Given the description of an element on the screen output the (x, y) to click on. 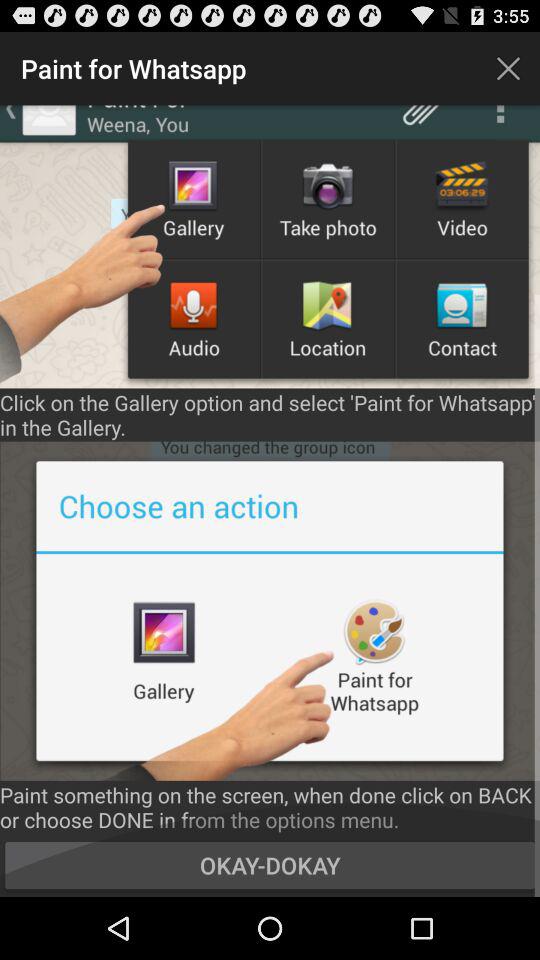
launch the icon below paint something on icon (270, 864)
